Given the description of an element on the screen output the (x, y) to click on. 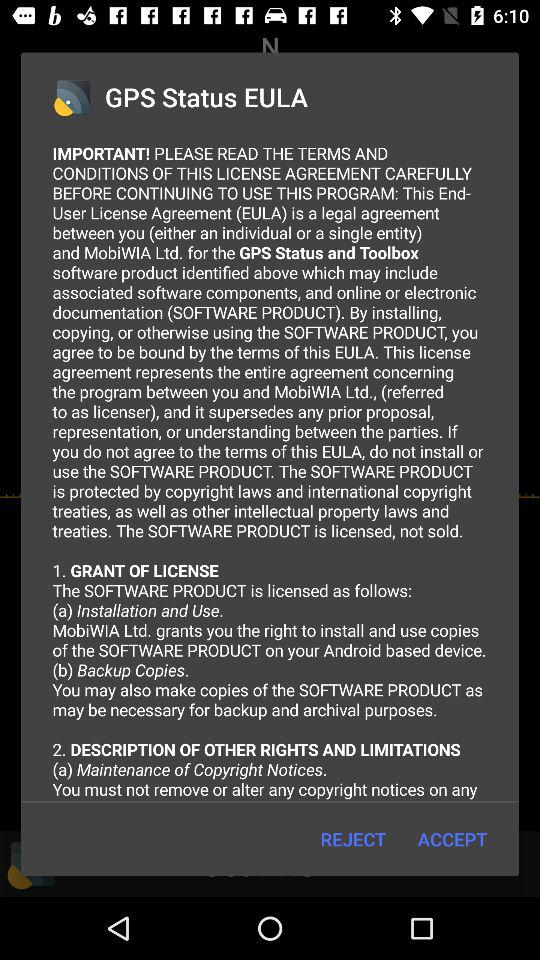
select the item at the bottom (352, 838)
